Given the description of an element on the screen output the (x, y) to click on. 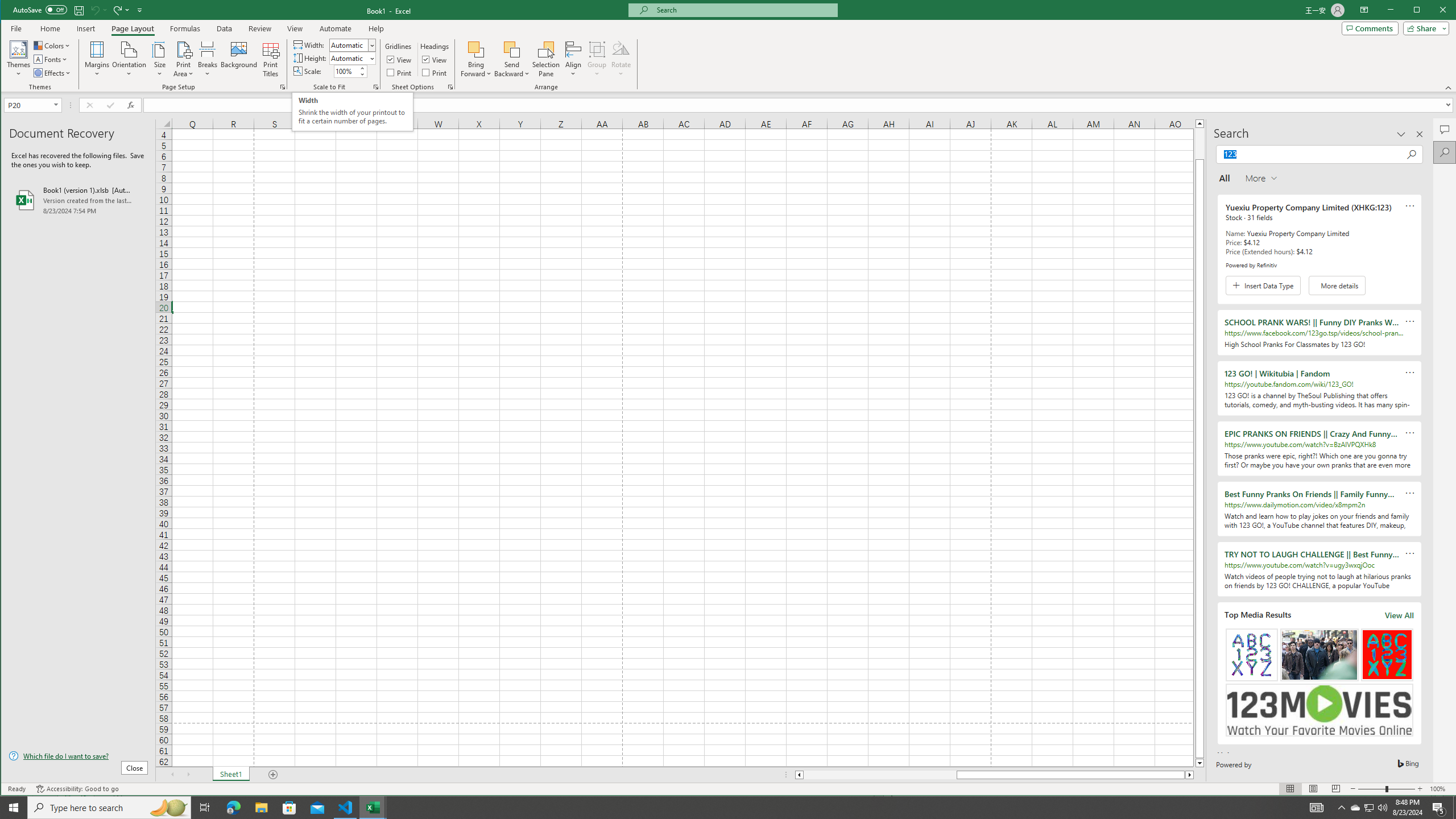
AutomationID: 4105 (1316, 807)
Print (434, 72)
Size (159, 59)
Excel - 2 running windows (373, 807)
